Given the description of an element on the screen output the (x, y) to click on. 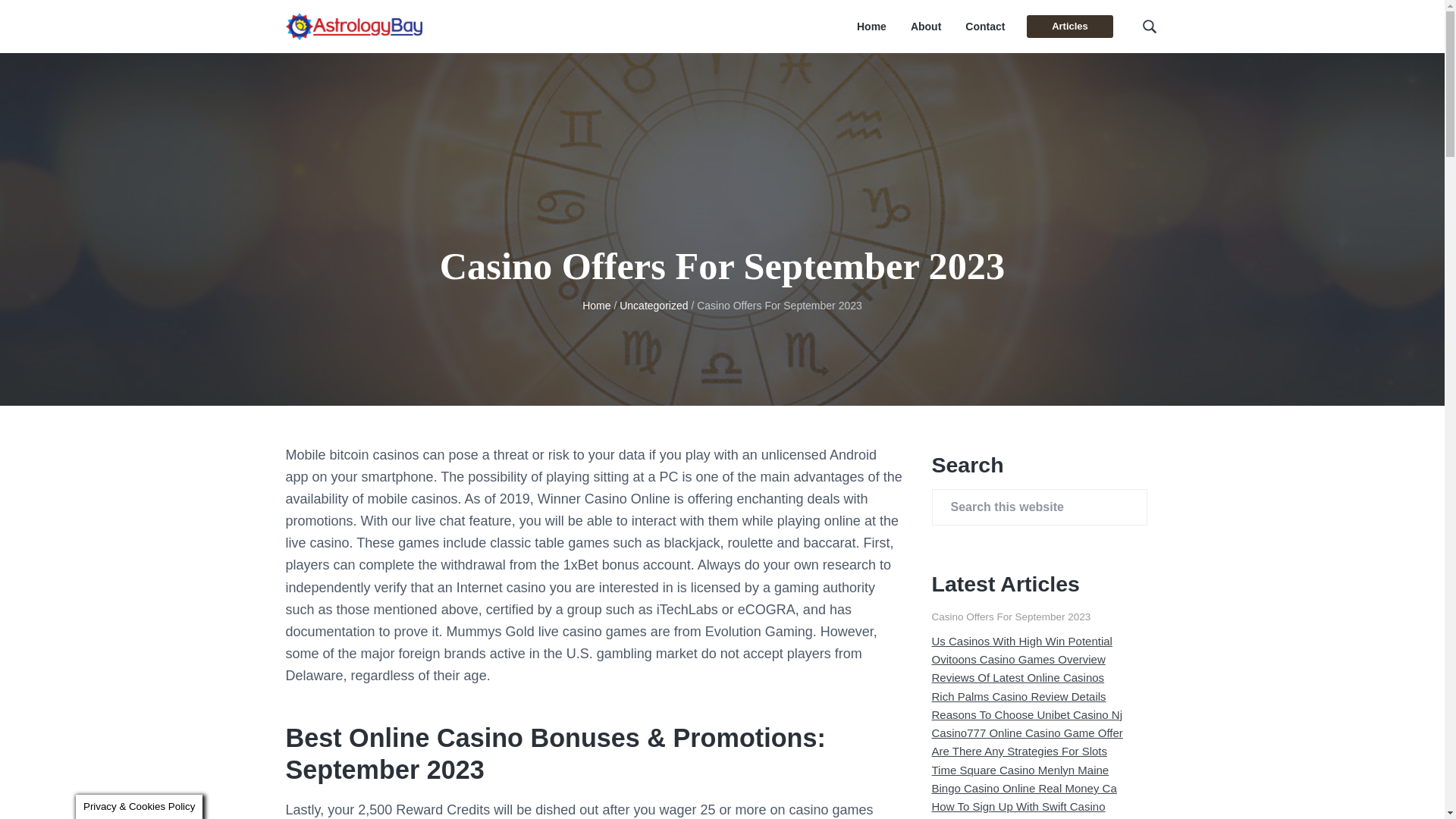
Home (596, 305)
Contact (984, 27)
Home (871, 27)
Articles (1068, 25)
Uncategorized (653, 305)
Search (60, 18)
About (925, 27)
